Given the description of an element on the screen output the (x, y) to click on. 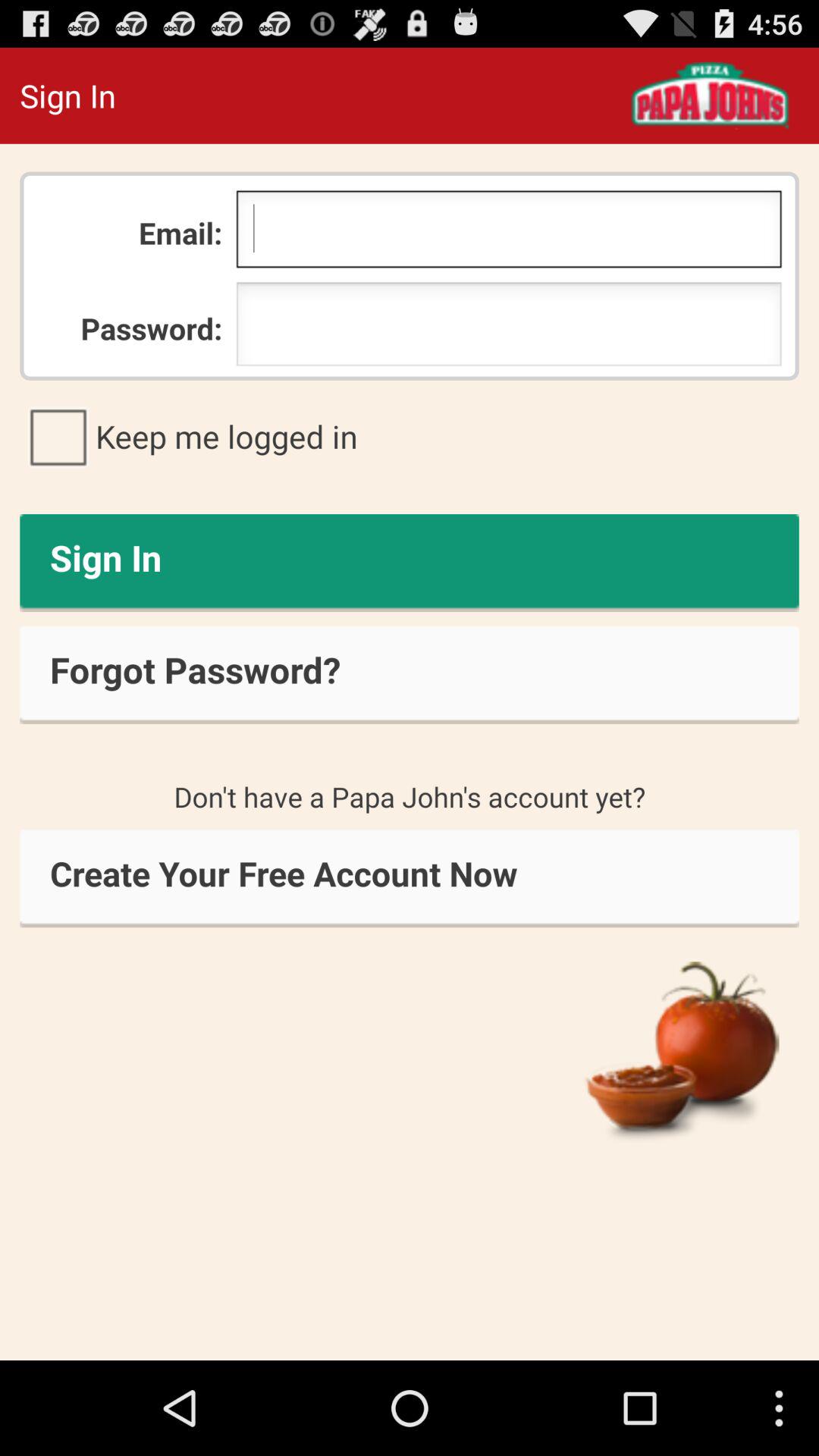
launch the keep me logged icon (409, 436)
